Given the description of an element on the screen output the (x, y) to click on. 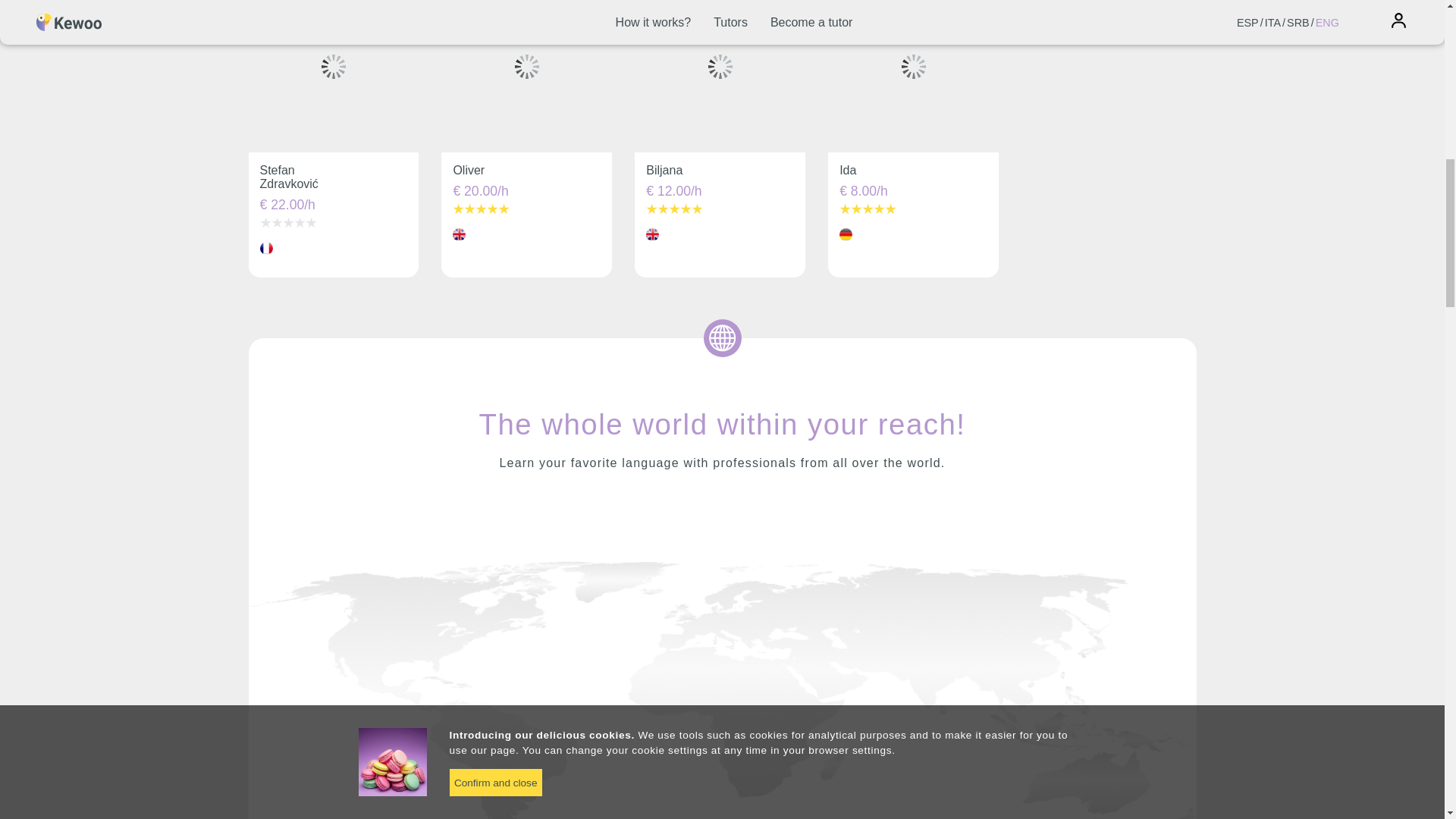
Oliver (526, 76)
Ida (848, 169)
Oliver (468, 169)
Oliver (468, 169)
Biljana (664, 169)
